Given the description of an element on the screen output the (x, y) to click on. 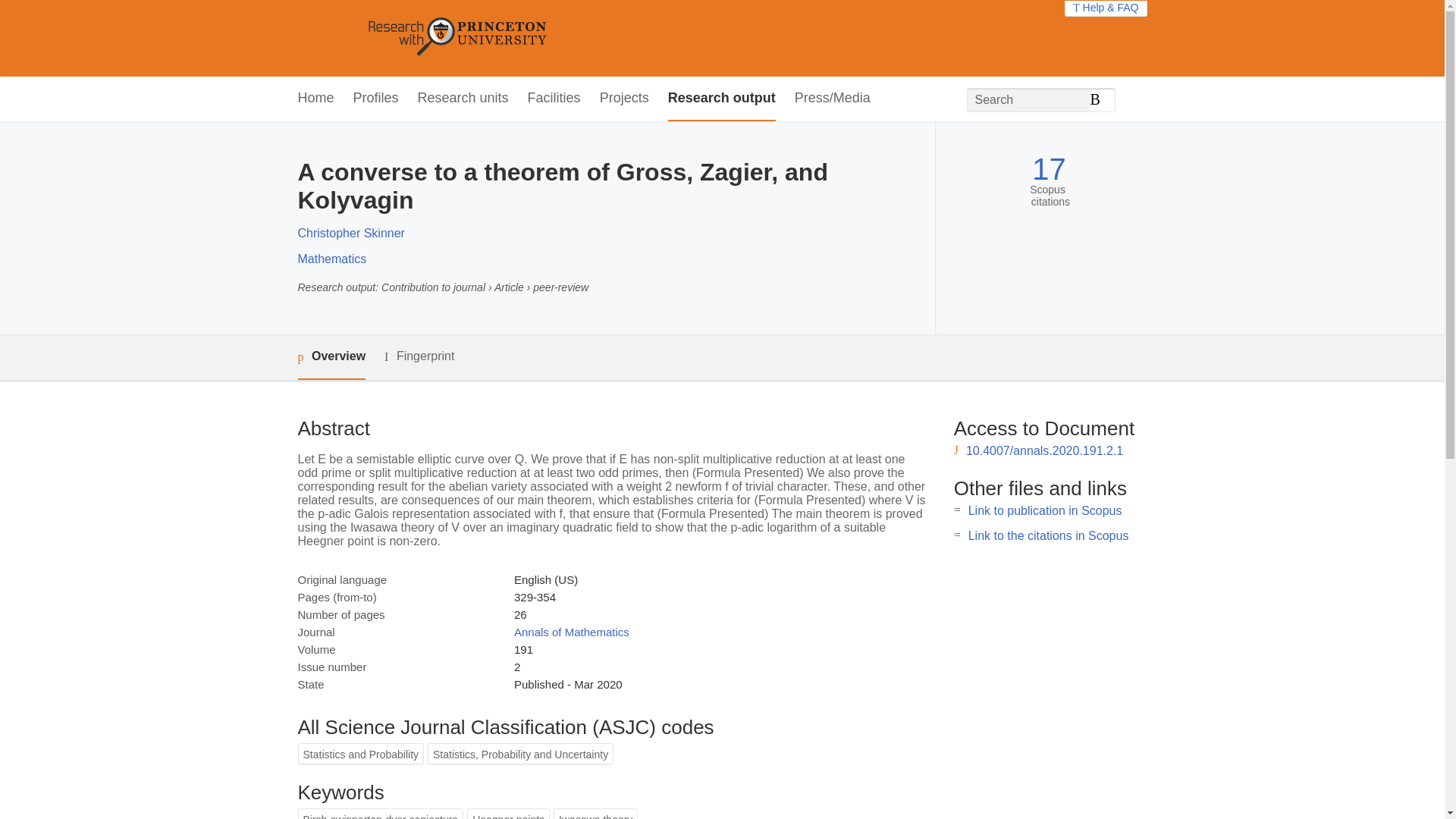
Annals of Mathematics (570, 631)
Princeton University Home (567, 38)
Research units (462, 98)
Link to the citations in Scopus (1048, 535)
Fingerprint (419, 356)
Facilities (553, 98)
Profiles (375, 98)
Overview (331, 357)
Projects (624, 98)
Christopher Skinner (350, 232)
Link to publication in Scopus (1045, 510)
Research output (722, 98)
Home (315, 98)
17 (1048, 169)
